Given the description of an element on the screen output the (x, y) to click on. 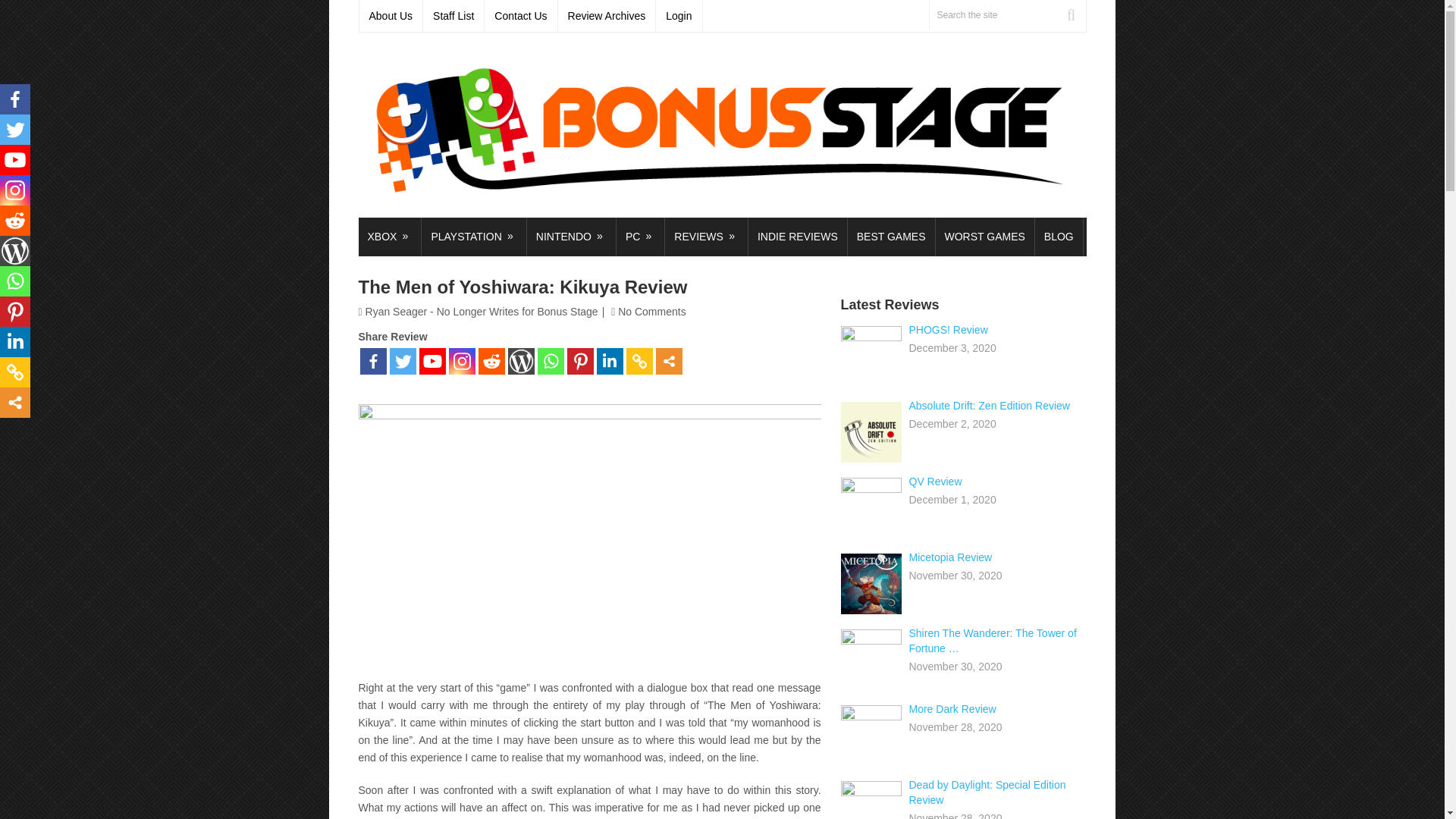
NINTENDO (571, 236)
Contact Us (520, 15)
About Us (391, 15)
Login (678, 15)
PLAYSTATION (473, 236)
XBOX (389, 236)
Review Archives (606, 15)
REVIEWS (706, 236)
PC (639, 236)
Staff List (453, 15)
